Given the description of an element on the screen output the (x, y) to click on. 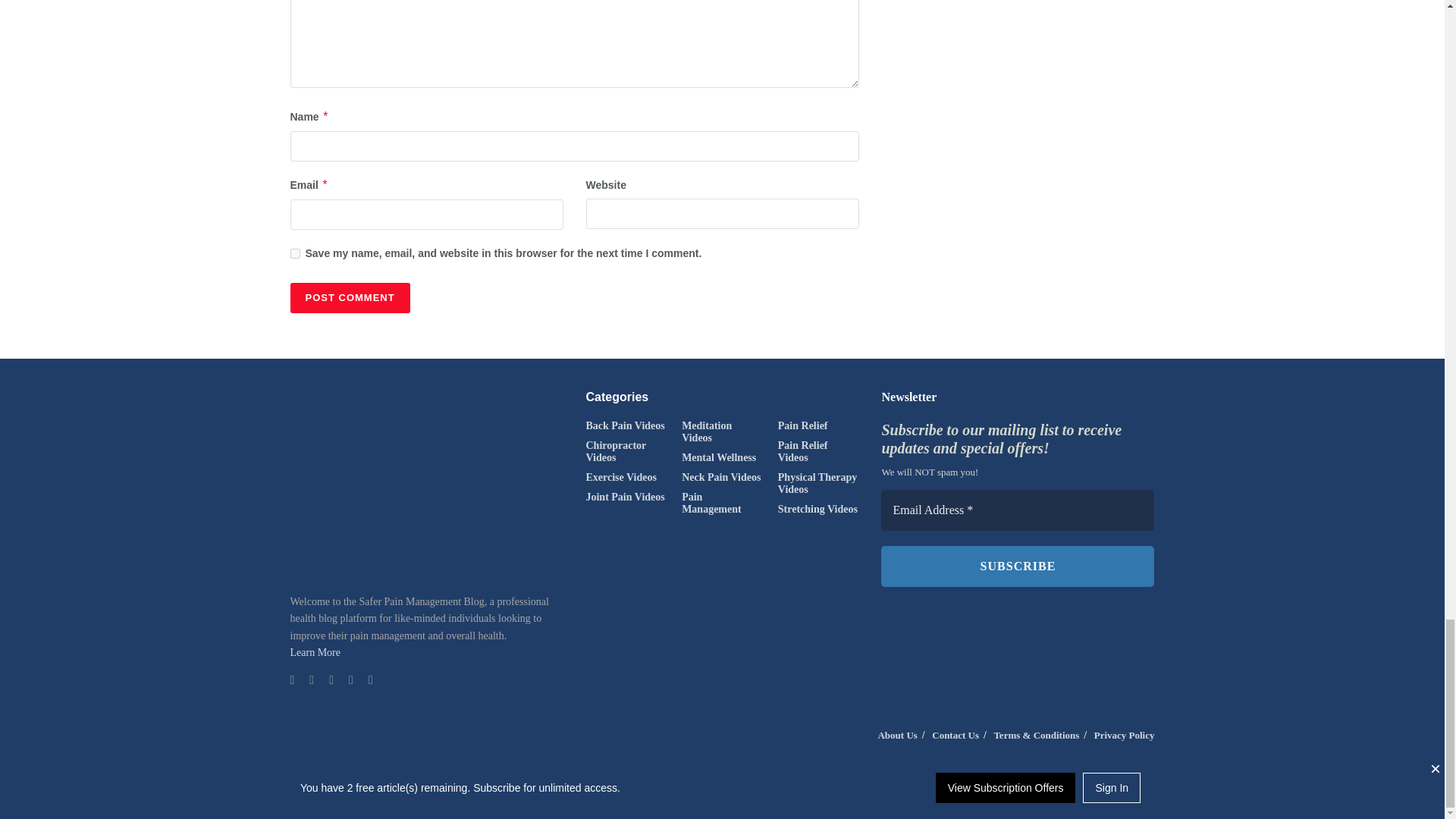
Post Comment (349, 297)
Subscribe (1017, 566)
yes (294, 253)
